Given the description of an element on the screen output the (x, y) to click on. 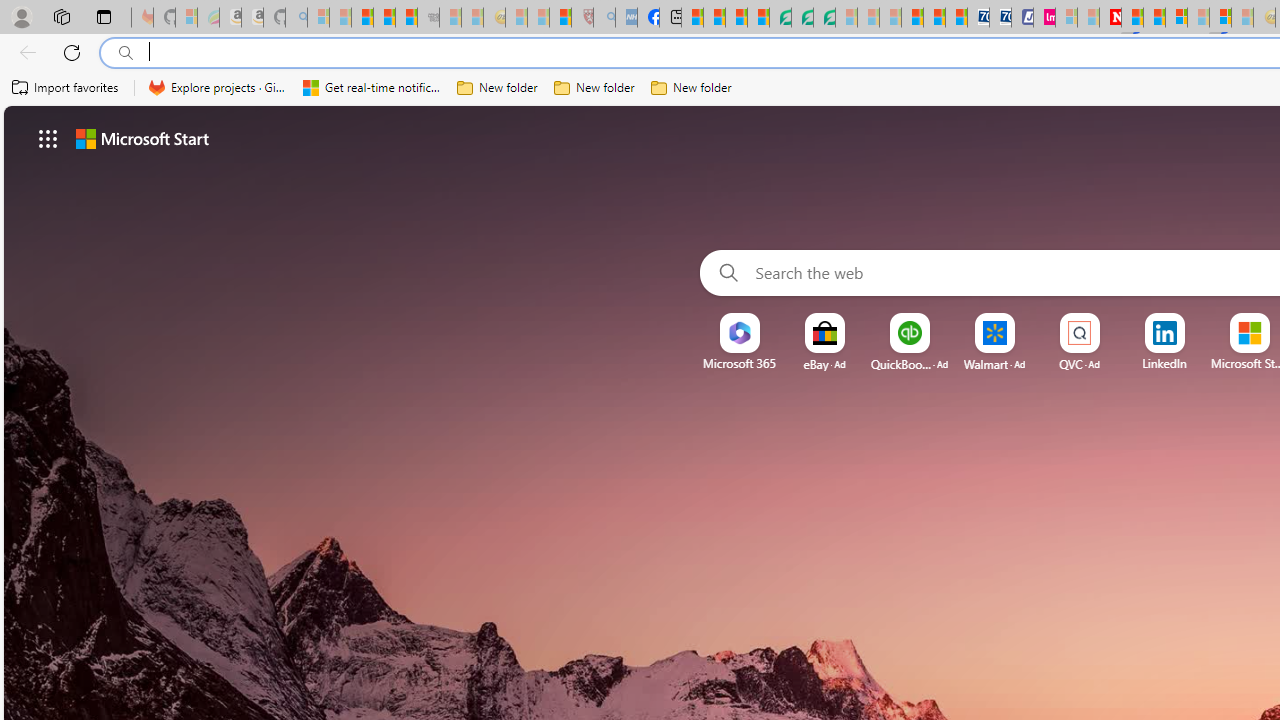
Microsoft account | Privacy - Sleeping (1066, 17)
World - MSN (736, 17)
Latest Politics News & Archive | Newsweek.com (1110, 17)
Microsoft-Report a Concern to Bing - Sleeping (186, 17)
LinkedIn (1163, 363)
MSNBC - MSN (692, 17)
